Given the description of an element on the screen output the (x, y) to click on. 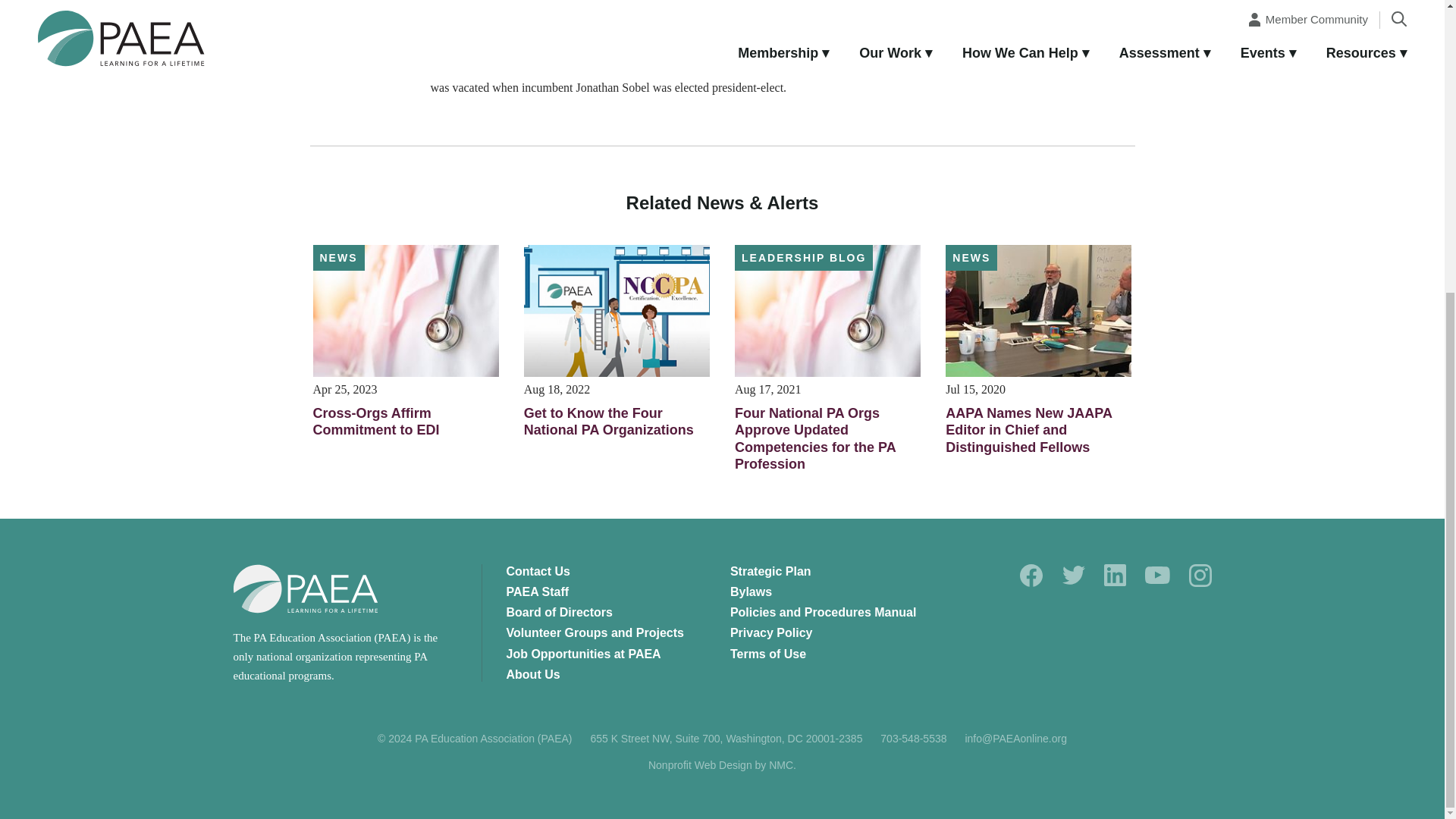
homepage (305, 588)
